Given the description of an element on the screen output the (x, y) to click on. 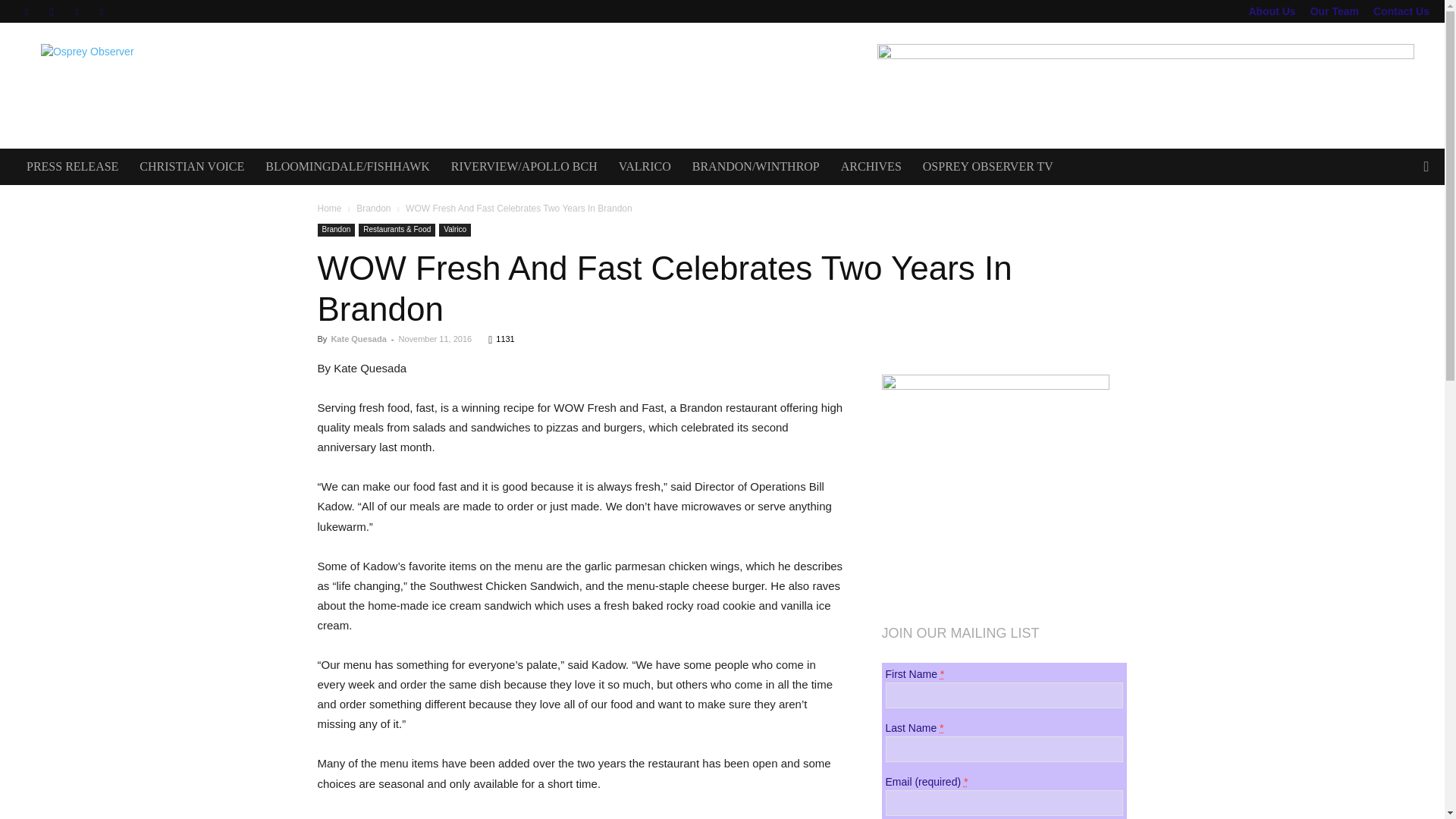
About Us (1271, 10)
View all posts in Brandon (373, 208)
Youtube (101, 11)
Twitter (76, 11)
Our Team (1334, 10)
Facebook (25, 11)
Instagram (51, 11)
